Given the description of an element on the screen output the (x, y) to click on. 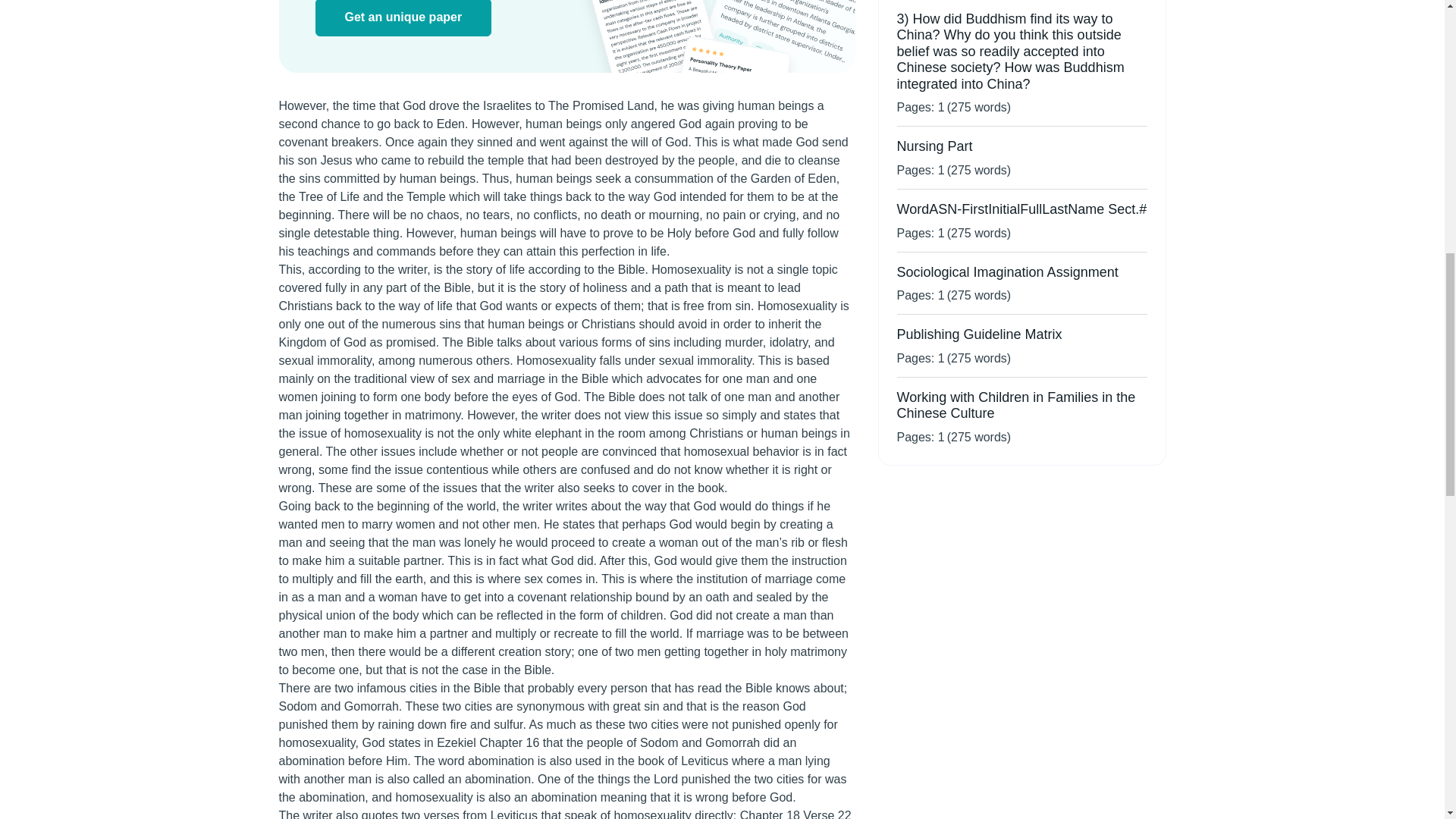
Nursing Part (934, 145)
Get an unique paper (403, 18)
Working with Children in Families in the Chinese Culture (1015, 405)
Get an unique paper (403, 18)
Publishing Guideline Matrix (978, 334)
Sociological Imagination Assignment (1007, 272)
